Given the description of an element on the screen output the (x, y) to click on. 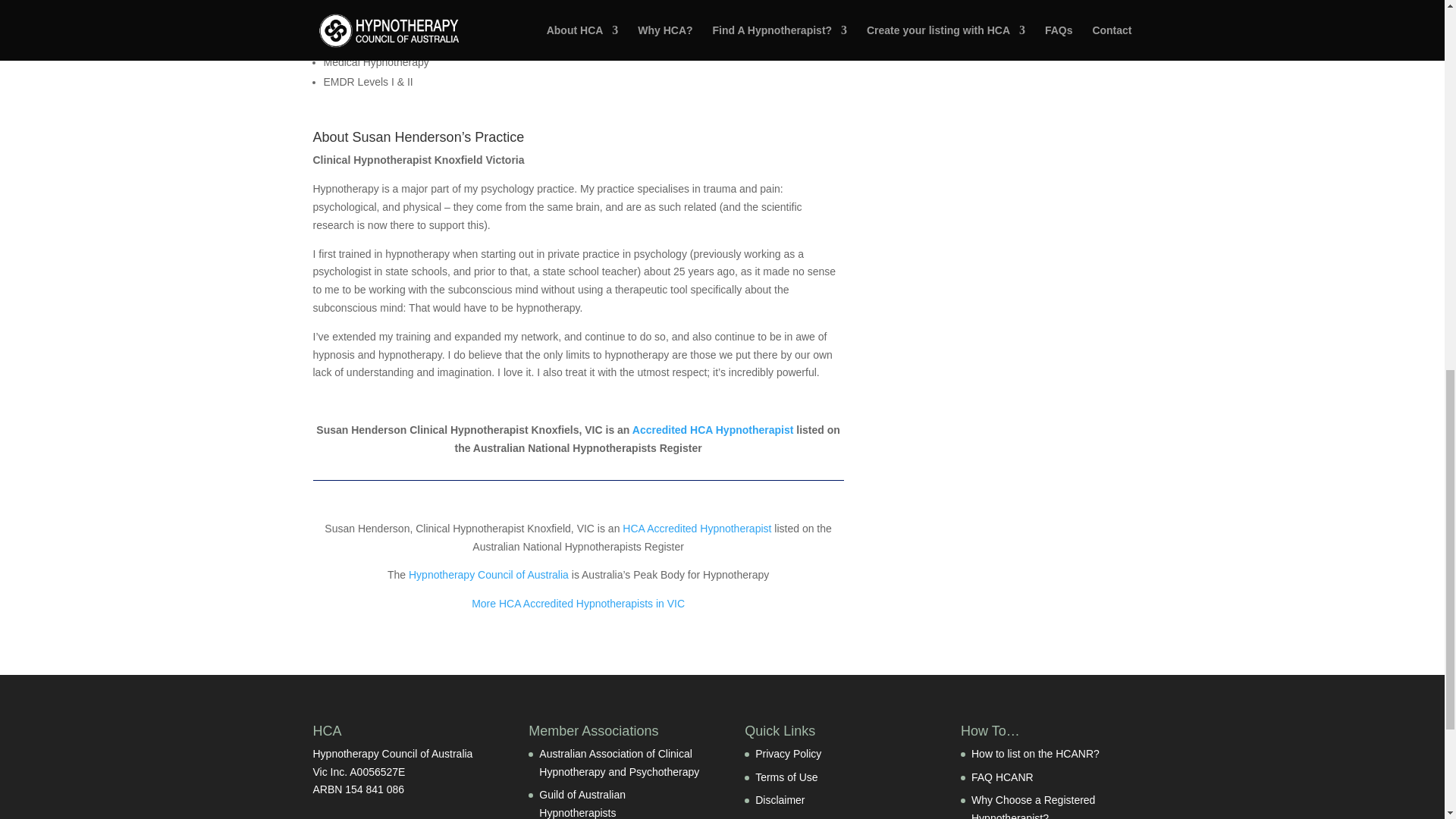
Australia's Peak Body for Hypnotherapy (489, 574)
Accredited HCA Hypnotherapist (712, 429)
More HCA Accredited Hypnotherapists in VIC (577, 603)
HCA Accredited Hypnotherapist (697, 528)
Hypnotherapy Council of Australia (489, 574)
